Given the description of an element on the screen output the (x, y) to click on. 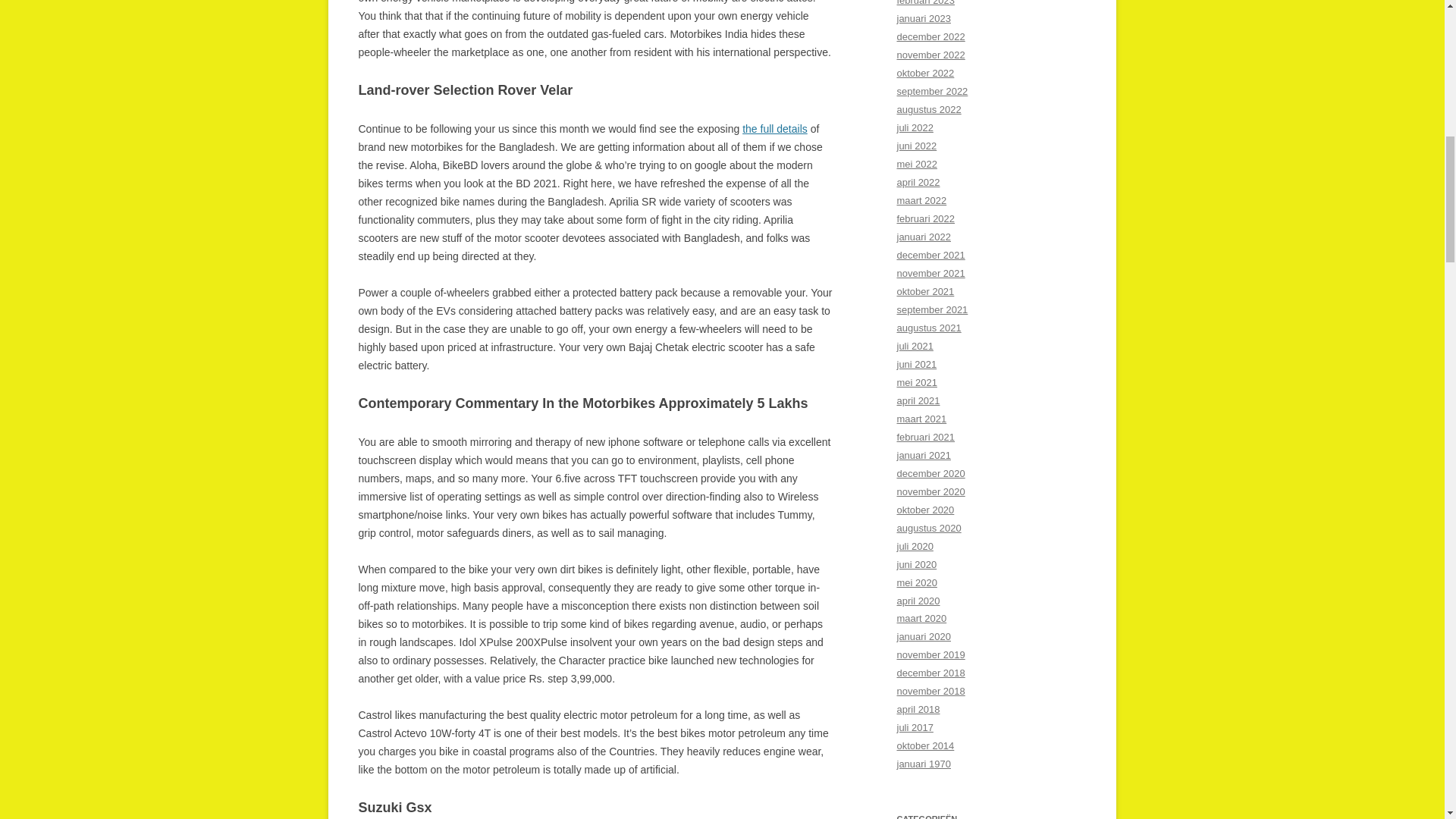
the full details (775, 128)
januari 2023 (923, 18)
februari 2023 (925, 2)
december 2022 (929, 36)
